Given the description of an element on the screen output the (x, y) to click on. 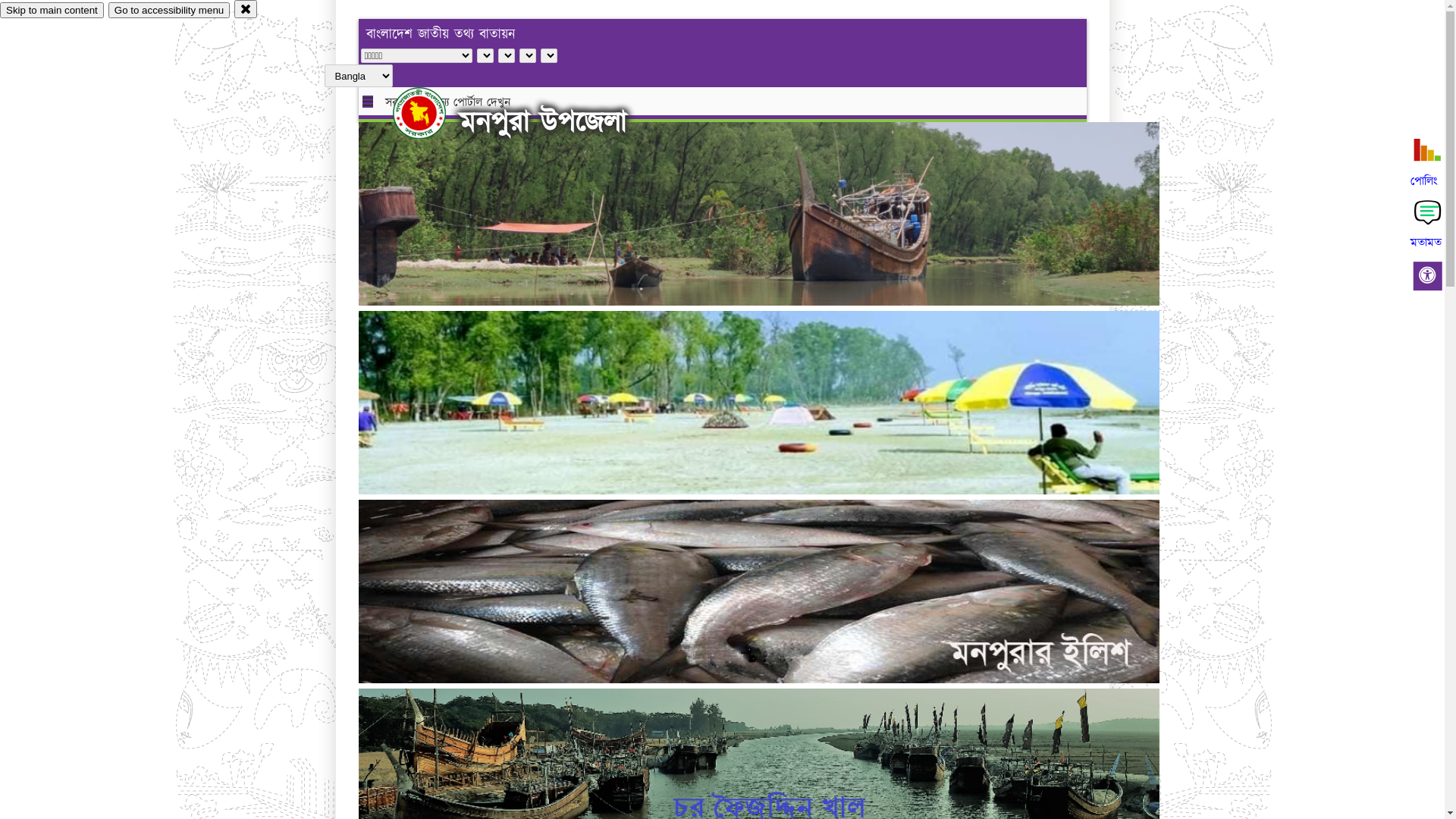

                
             Element type: hover (431, 112)
Go to accessibility menu Element type: text (168, 10)
close Element type: hover (245, 9)
Skip to main content Element type: text (51, 10)
